Given the description of an element on the screen output the (x, y) to click on. 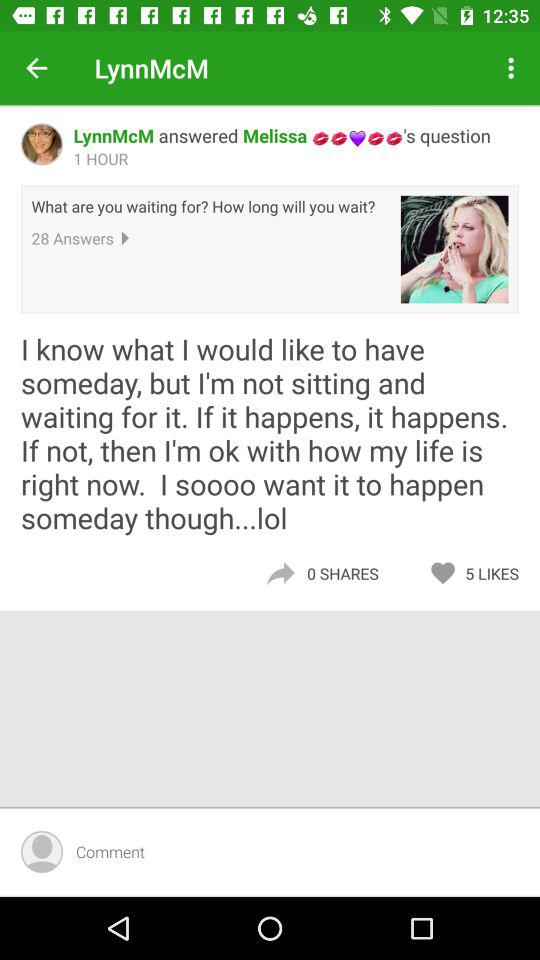
choose the icon below the i know what icon (497, 573)
